Given the description of an element on the screen output the (x, y) to click on. 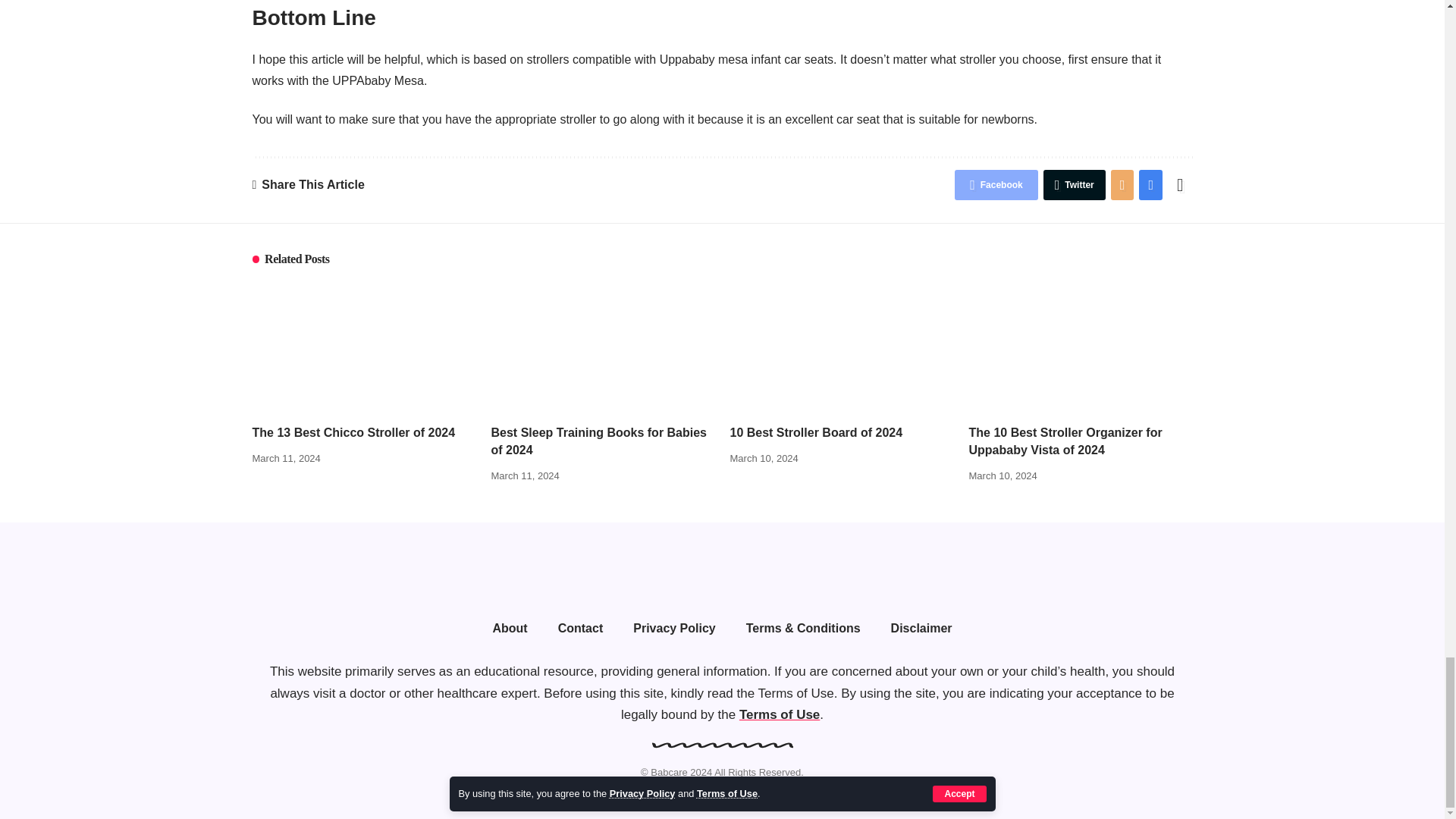
The 13 Best Chicco Stroller of 2024 (363, 347)
Best Sleep Training Books for Babies of 2024 (603, 347)
10 Best Stroller Board of 2024 (841, 347)
The 10 Best Stroller Organizer for Uppababy Vista of 2024 (1080, 347)
